Given the description of an element on the screen output the (x, y) to click on. 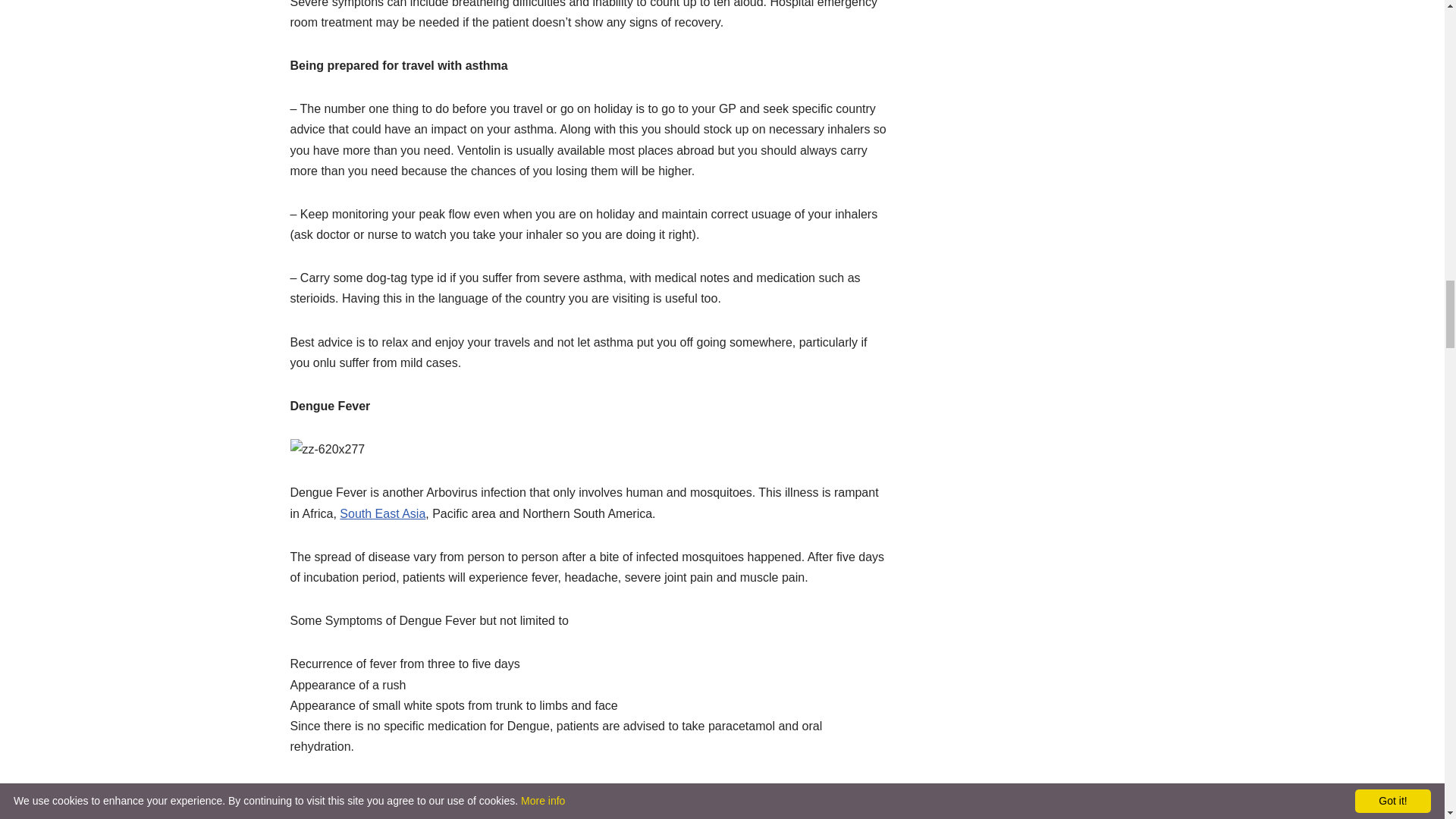
South East Asia (382, 513)
